Given the description of an element on the screen output the (x, y) to click on. 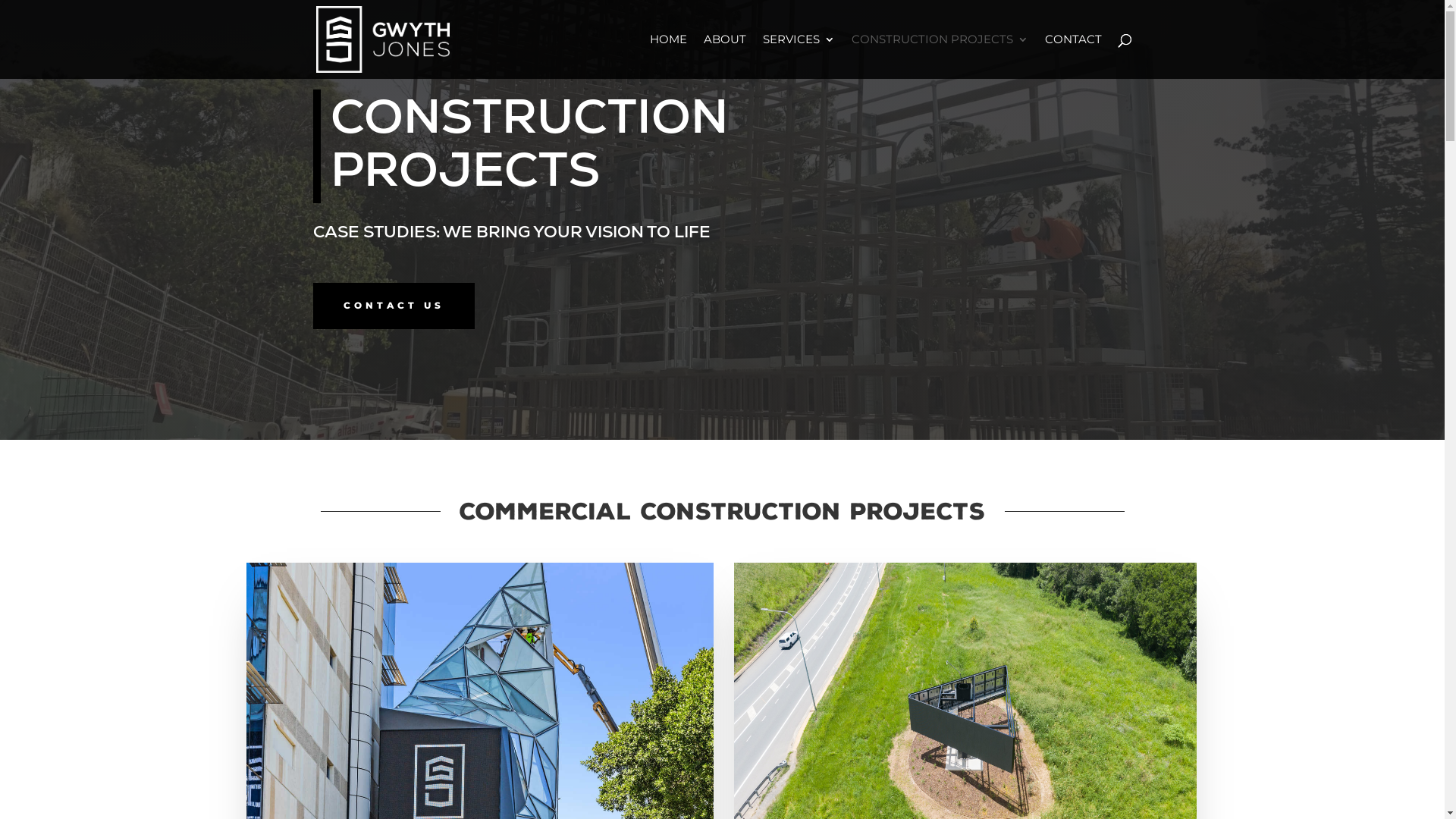
HOME Element type: text (667, 56)
ABOUT Element type: text (724, 56)
CONSTRUCTION PROJECTS Element type: text (938, 56)
CONTACT Element type: text (1072, 56)
CONTACT US Element type: text (392, 305)
SERVICES Element type: text (798, 56)
